Given the description of an element on the screen output the (x, y) to click on. 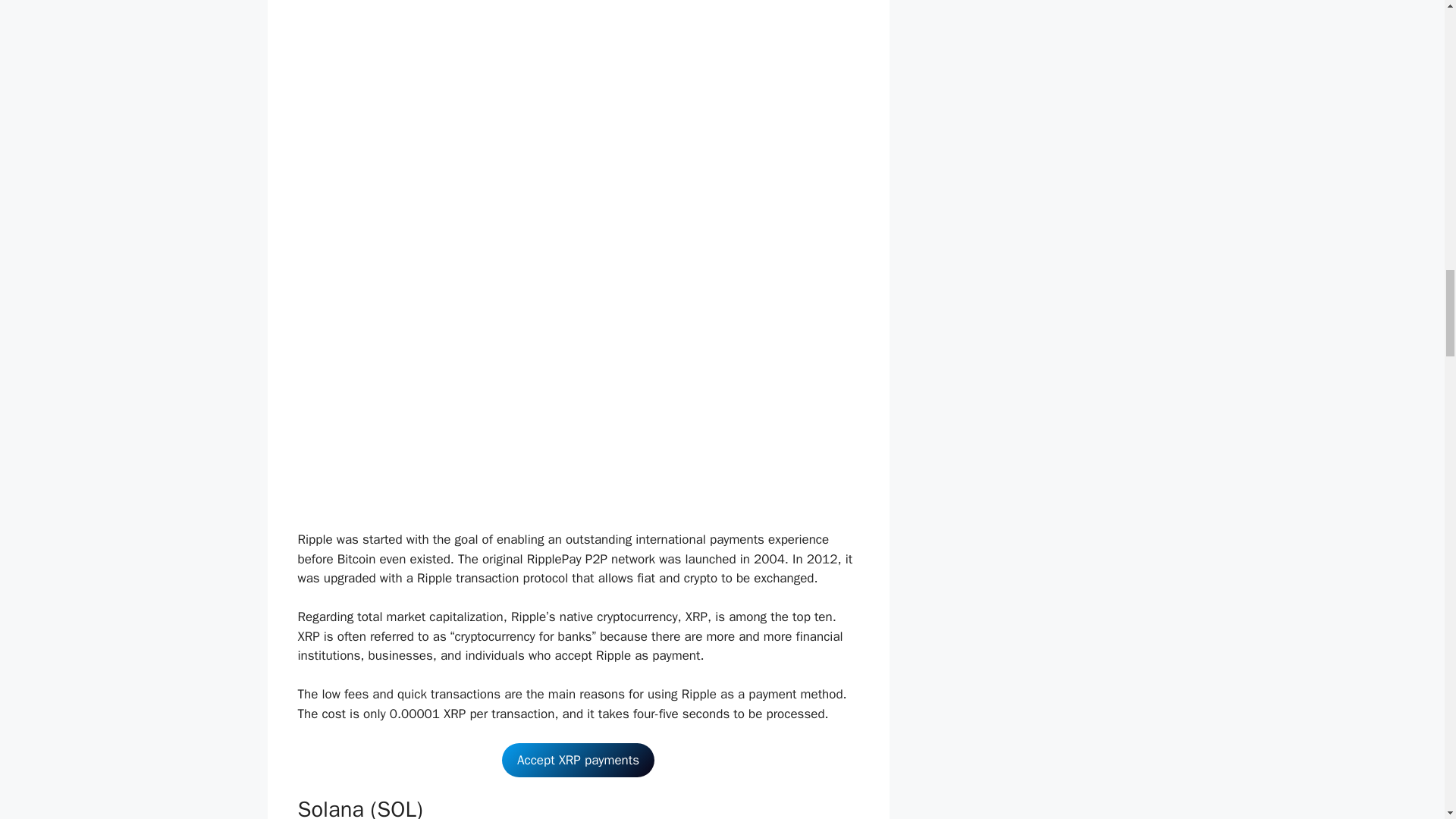
Accept XRP payments (577, 760)
